Given the description of an element on the screen output the (x, y) to click on. 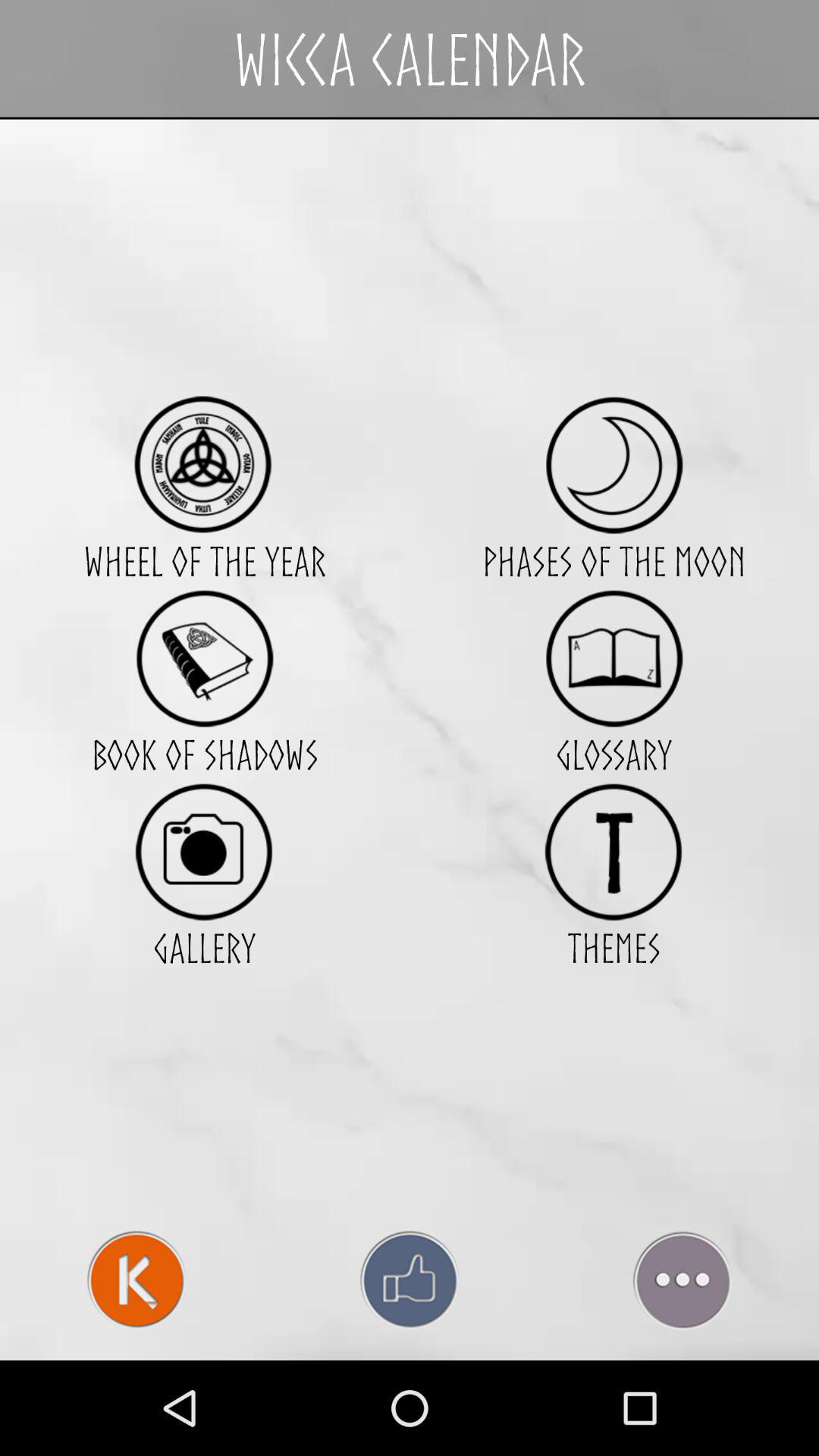
view the wheel of the year (204, 464)
